Given the description of an element on the screen output the (x, y) to click on. 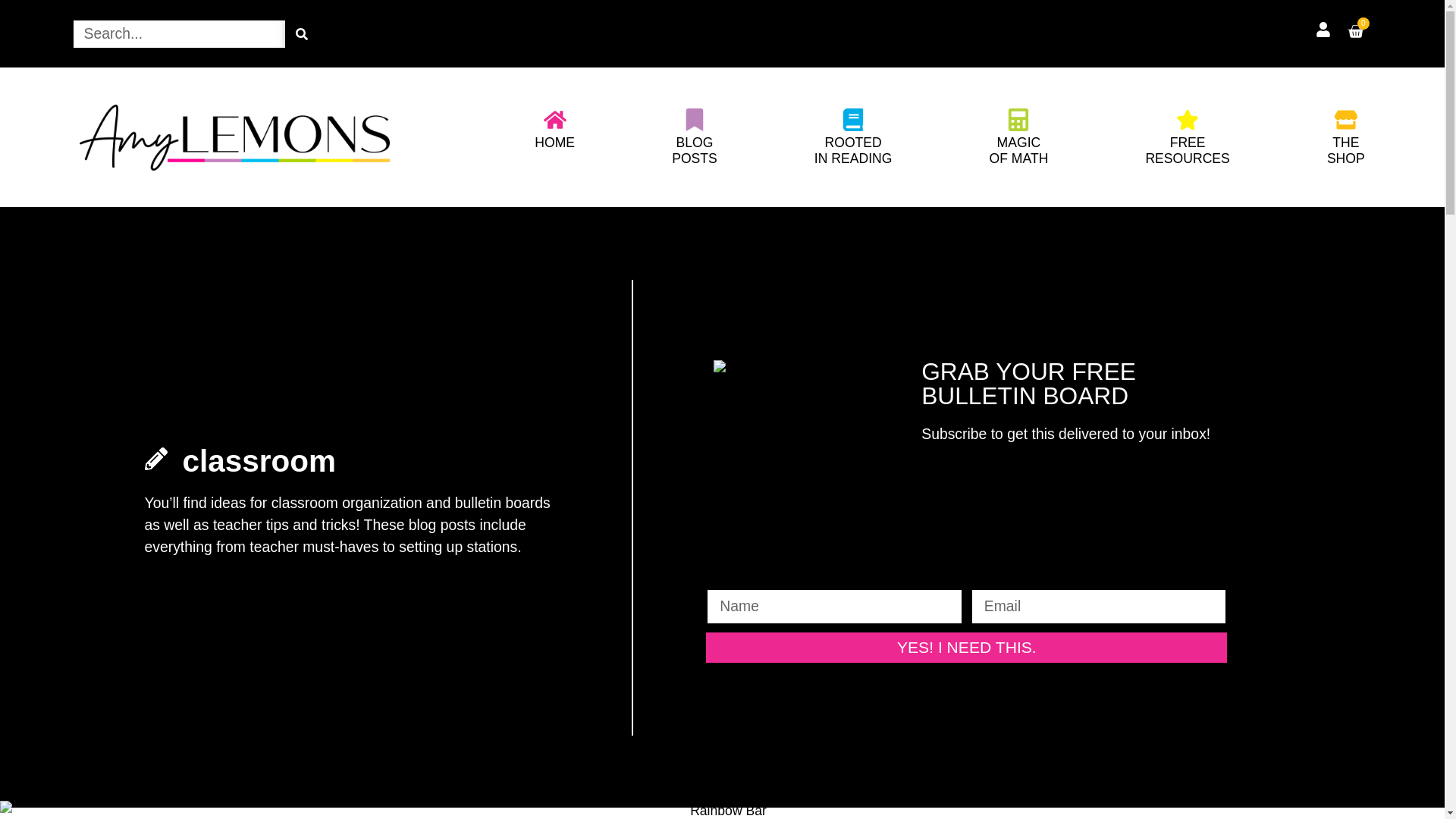
HOME (554, 142)
YES! I NEED THIS. (852, 150)
